Given the description of an element on the screen output the (x, y) to click on. 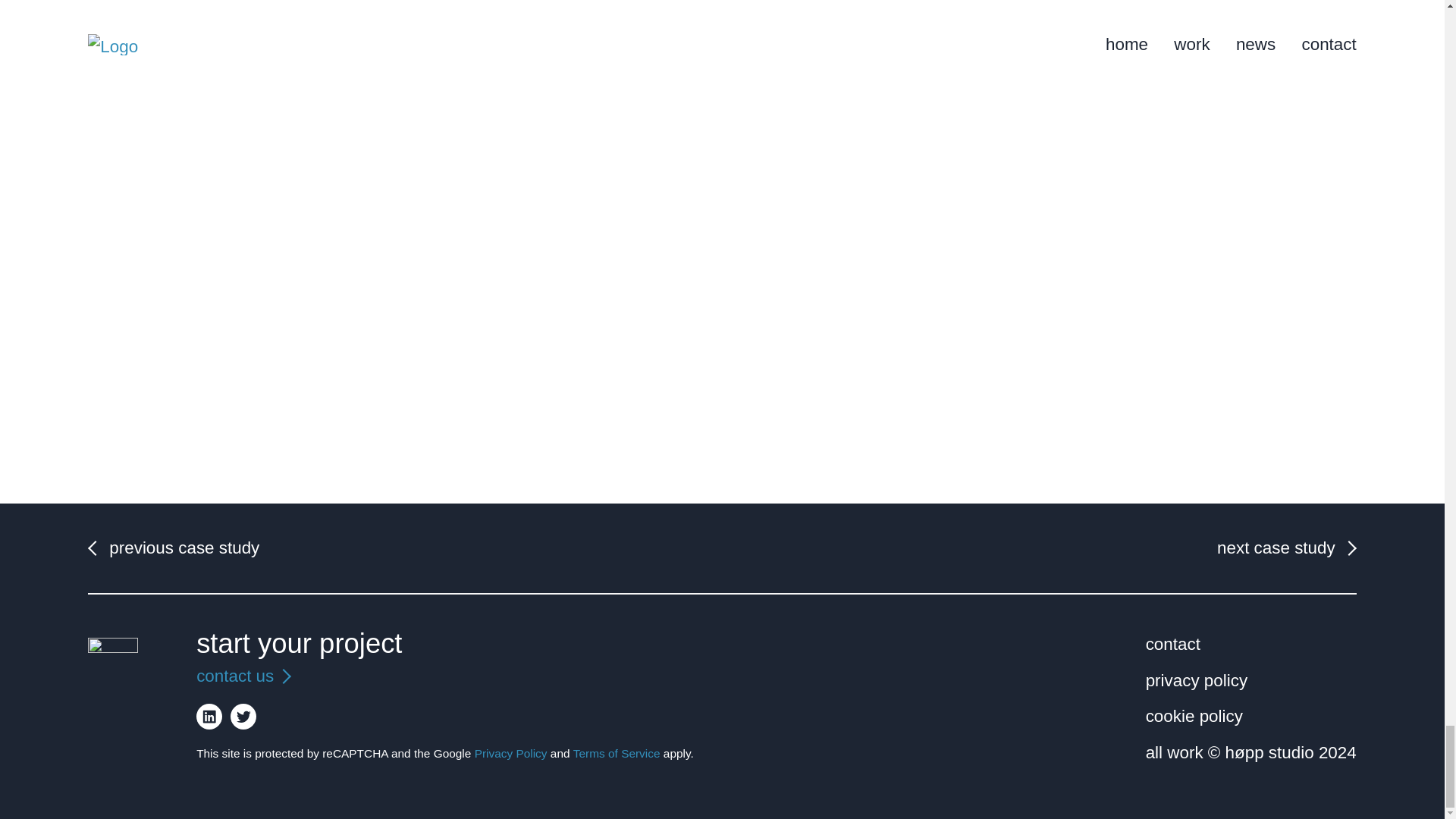
Privacy Policy (510, 753)
privacy policy (1196, 680)
contact (1172, 644)
next case study (1276, 548)
Terms of Service (617, 753)
previous case study (184, 548)
cookie policy (1194, 716)
